Given the description of an element on the screen output the (x, y) to click on. 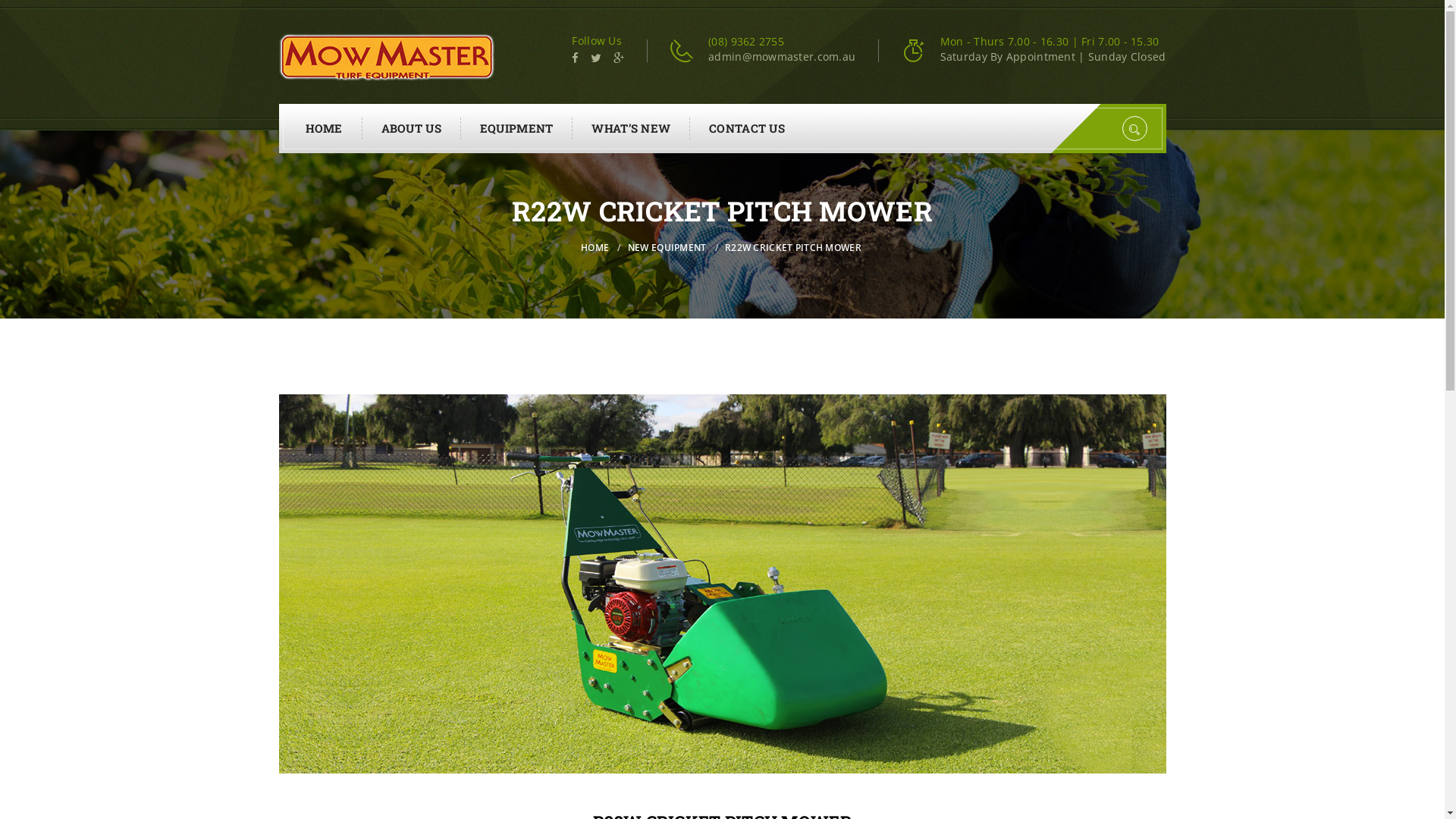
HOME Element type: text (595, 247)
HOME Element type: text (324, 128)
CONTACT US Element type: text (746, 128)
EQUIPMENT Element type: text (517, 128)
NEW EQUIPMENT Element type: text (668, 247)
ABOUT US Element type: text (411, 128)
